Given the description of an element on the screen output the (x, y) to click on. 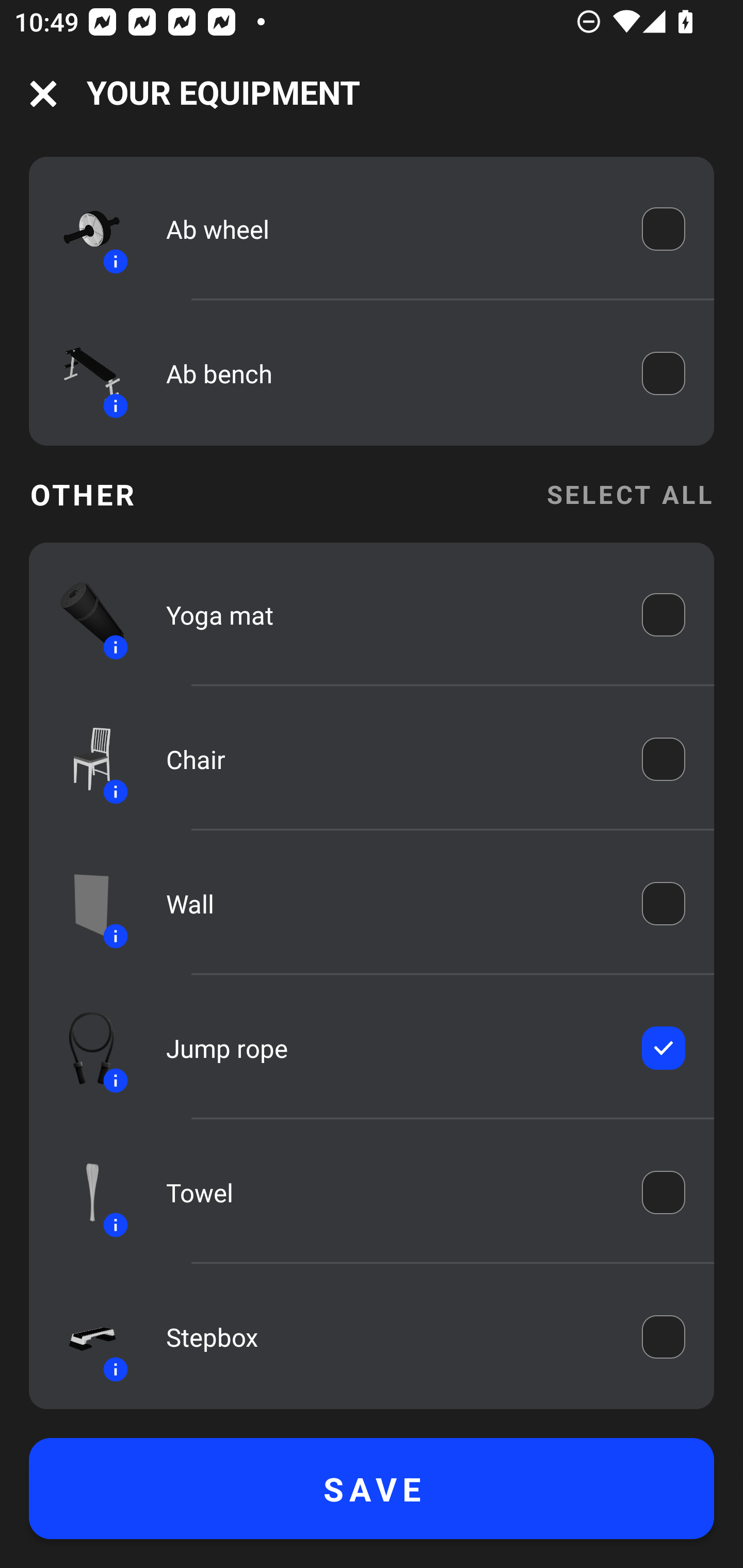
Navigation icon (43, 93)
Equipment icon Information icon (82, 229)
Ab wheel (389, 228)
Equipment icon Information icon (82, 373)
Ab bench (389, 373)
SELECT ALL (629, 494)
Equipment icon Information icon (82, 615)
Yoga mat (389, 614)
Equipment icon Information icon (82, 759)
Chair (389, 759)
Equipment icon Information icon (82, 903)
Wall (389, 903)
Equipment icon Information icon (82, 1048)
Jump rope (389, 1048)
Equipment icon Information icon (82, 1192)
Towel (389, 1192)
Equipment icon Information icon (82, 1336)
Stepbox (389, 1336)
SAVE (371, 1488)
